Given the description of an element on the screen output the (x, y) to click on. 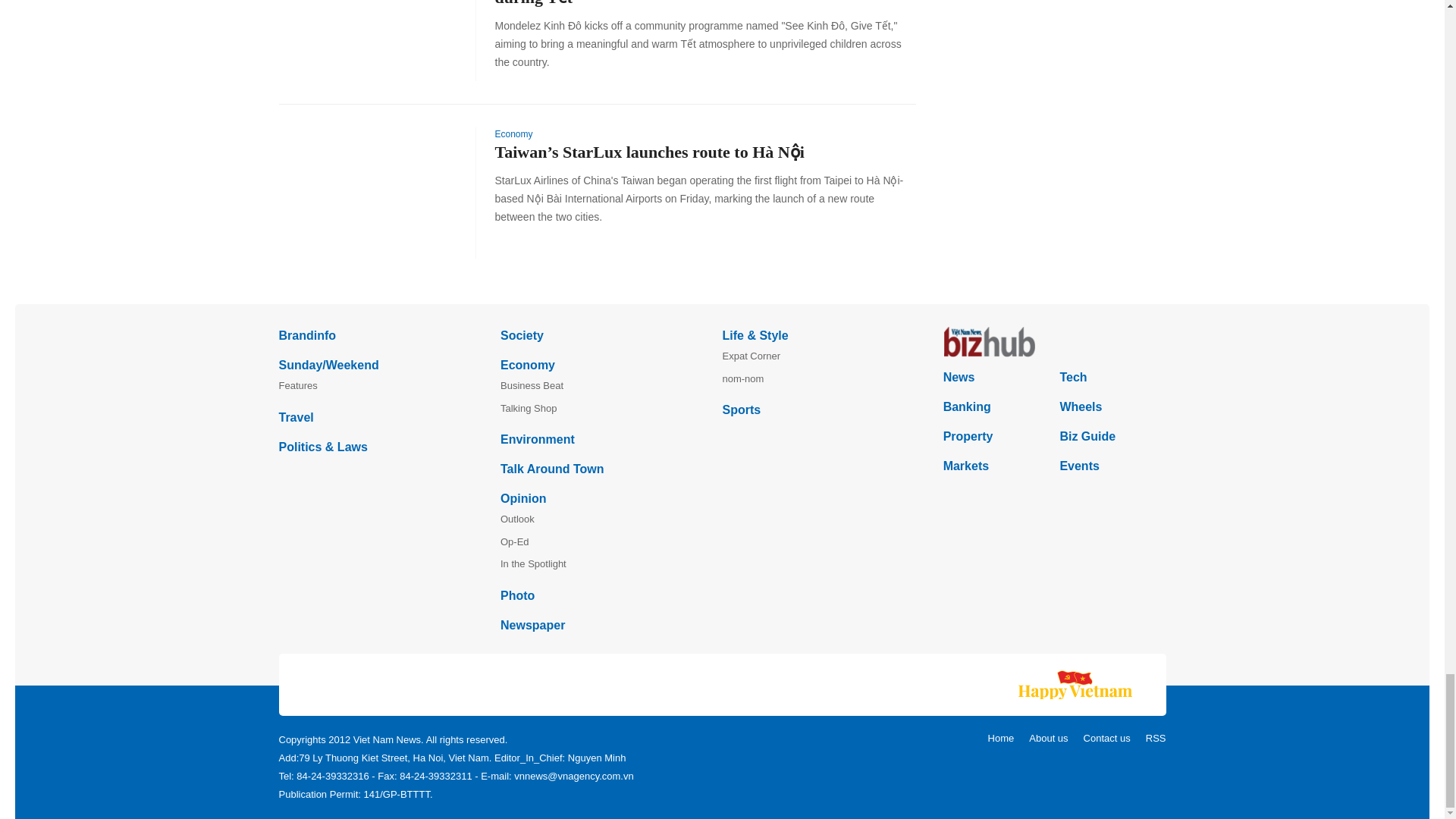
bizhub (1054, 341)
